Given the description of an element on the screen output the (x, y) to click on. 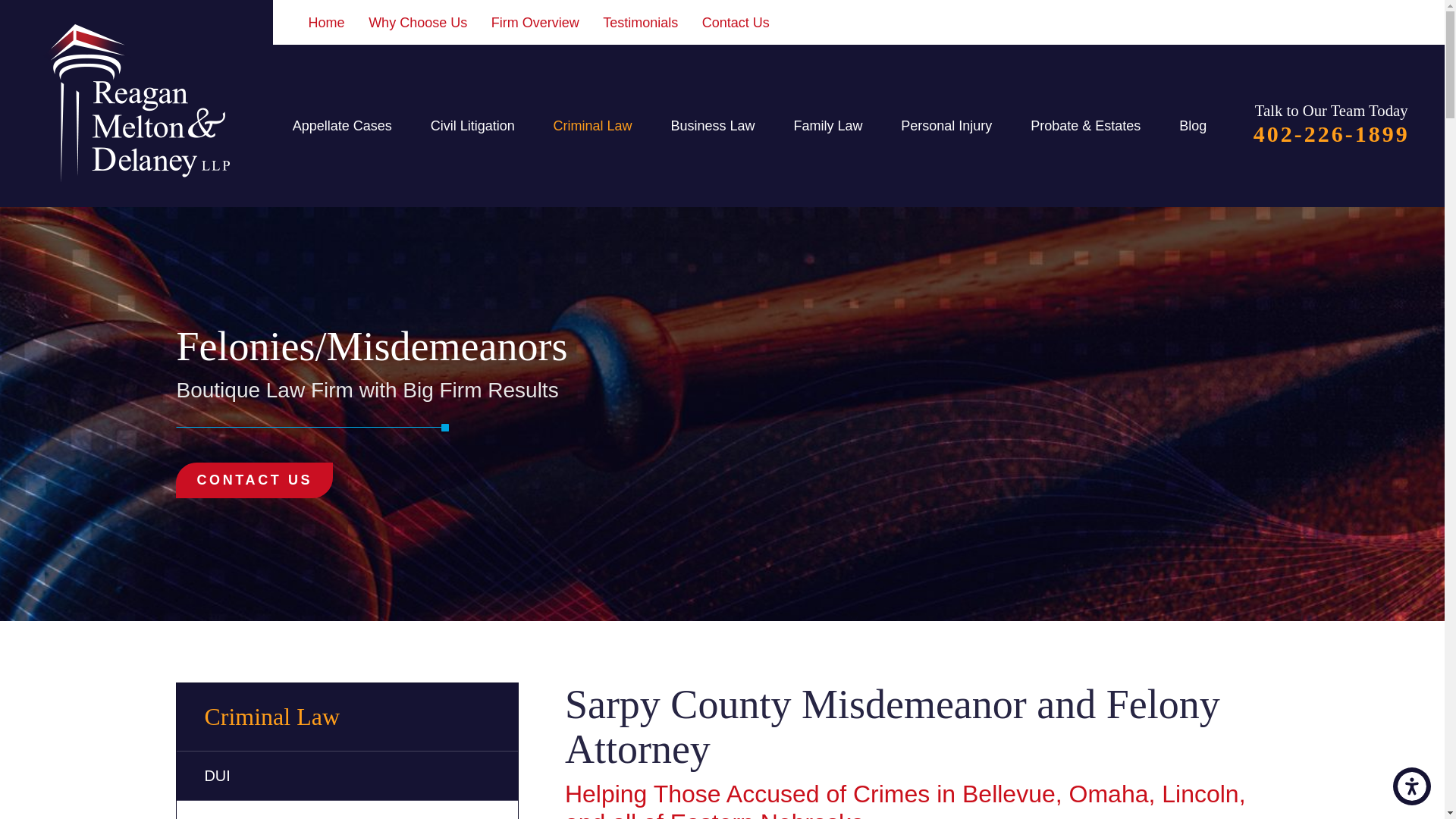
Testimonials (640, 22)
Contact Us (735, 22)
Open the accessibility options menu (1412, 786)
Home (326, 22)
Firm Overview (535, 22)
Why Choose Us (417, 22)
